Given the description of an element on the screen output the (x, y) to click on. 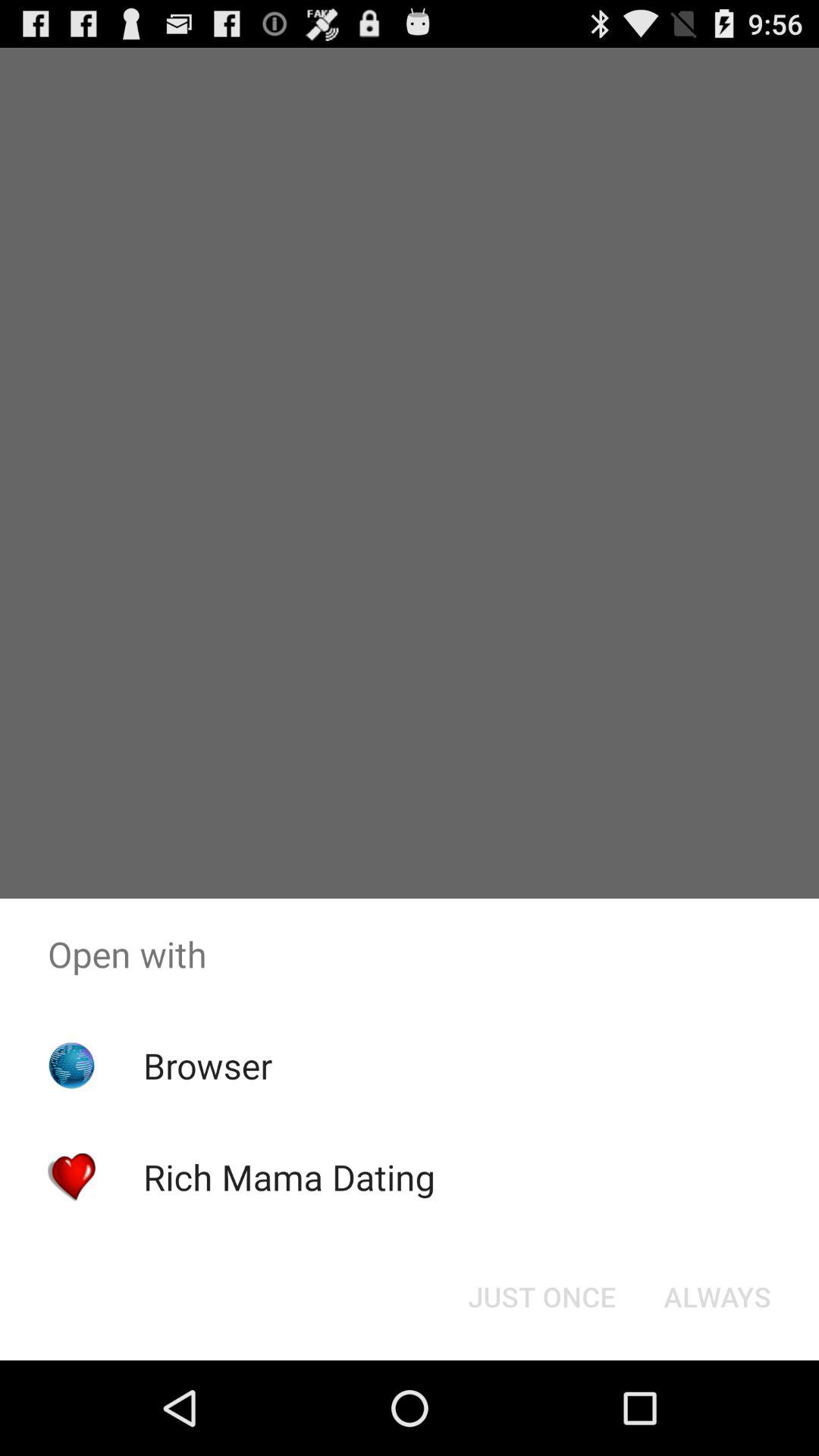
flip until just once icon (541, 1296)
